Given the description of an element on the screen output the (x, y) to click on. 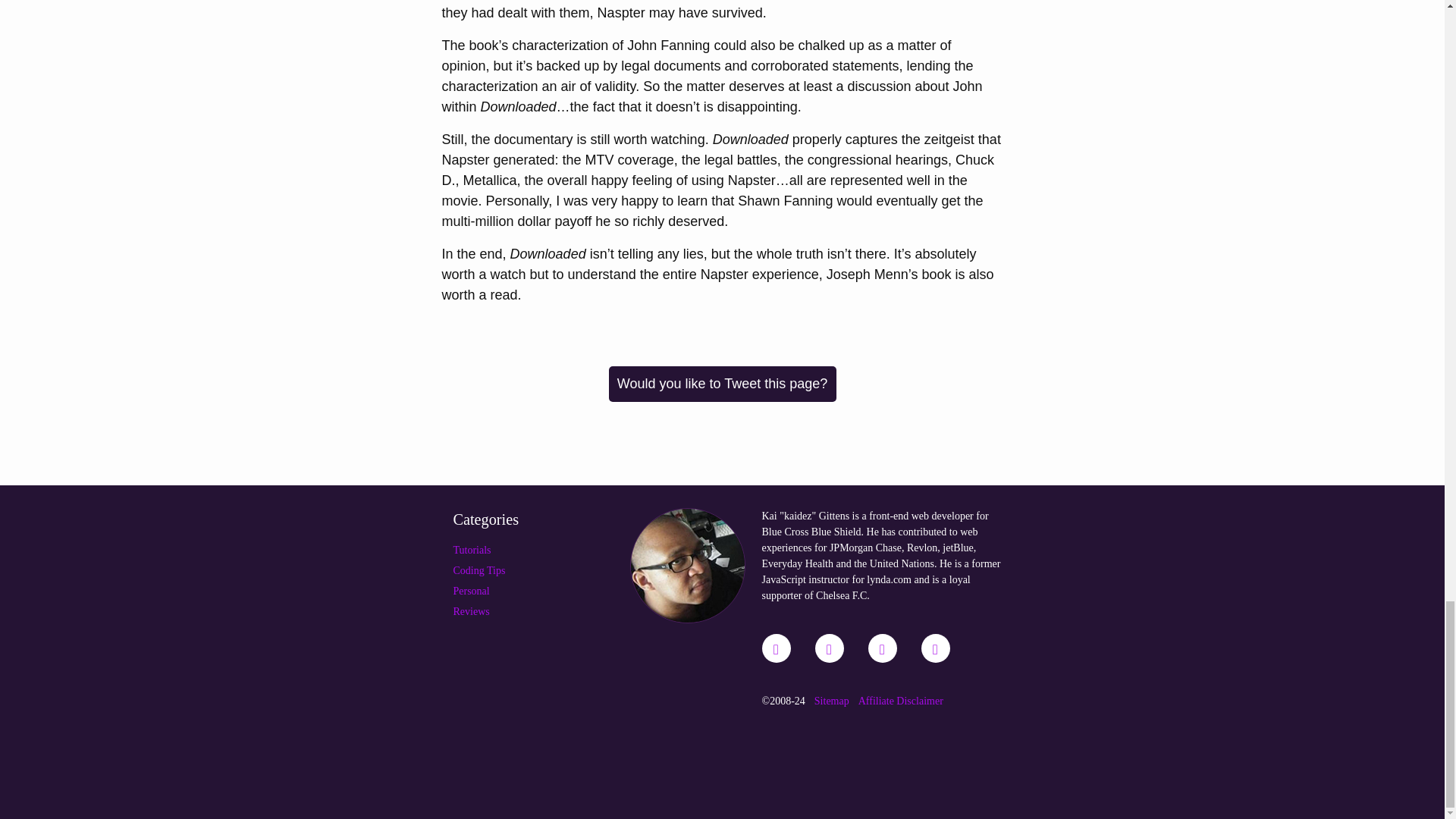
Reviews (470, 611)
Would you like to Tweet this page? (721, 384)
Coding Tips (478, 570)
Personal (470, 591)
Sitemap (830, 700)
Affiliate Disclaimer (901, 700)
Tutorials (472, 550)
